Given the description of an element on the screen output the (x, y) to click on. 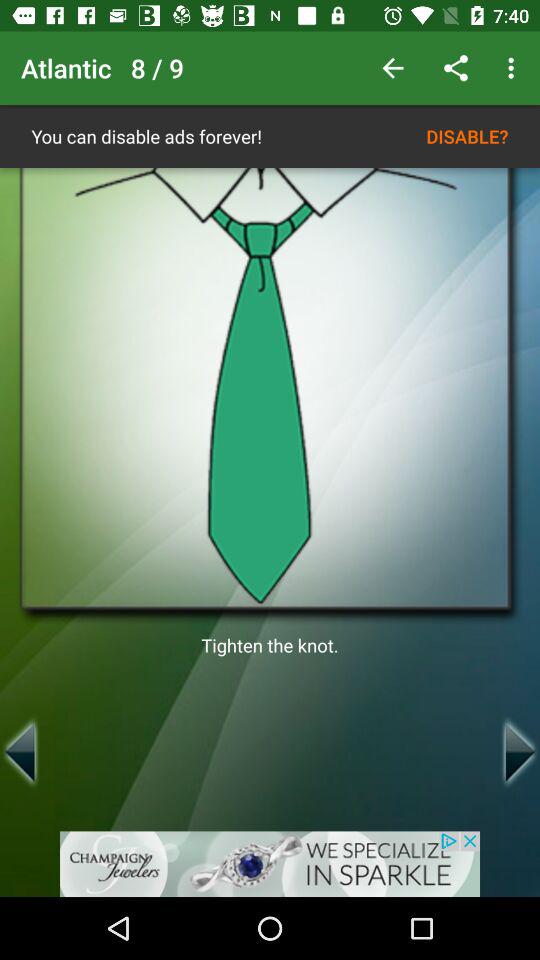
click on the next icon (520, 752)
select the second icon which is at the top right of the page (456, 68)
